Given the description of an element on the screen output the (x, y) to click on. 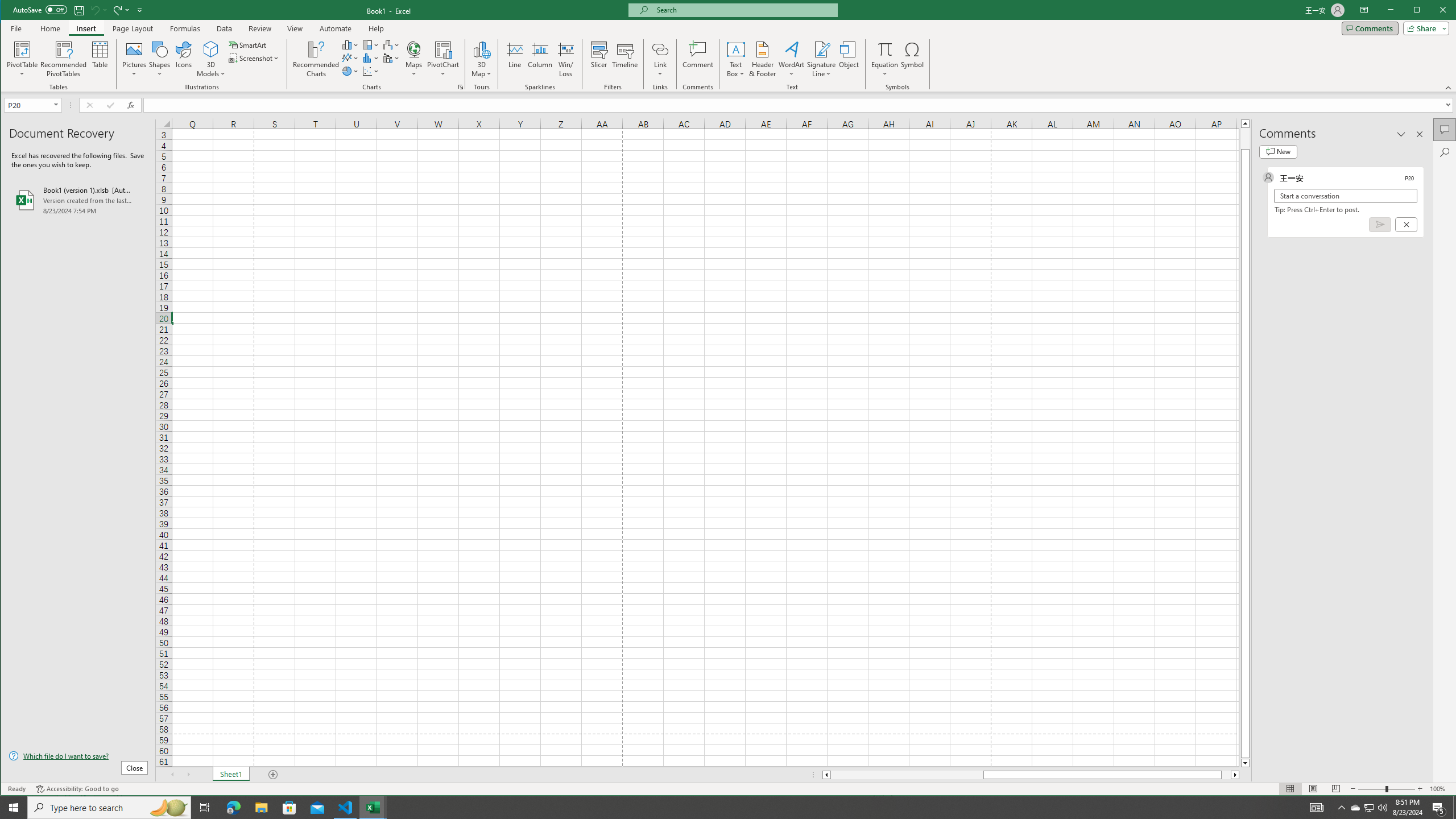
Equation (884, 48)
PivotChart (443, 59)
Action Center, 5 new notifications (1439, 807)
Insert Line or Area Chart (350, 57)
Insert Column or Bar Chart (350, 44)
